Given the description of an element on the screen output the (x, y) to click on. 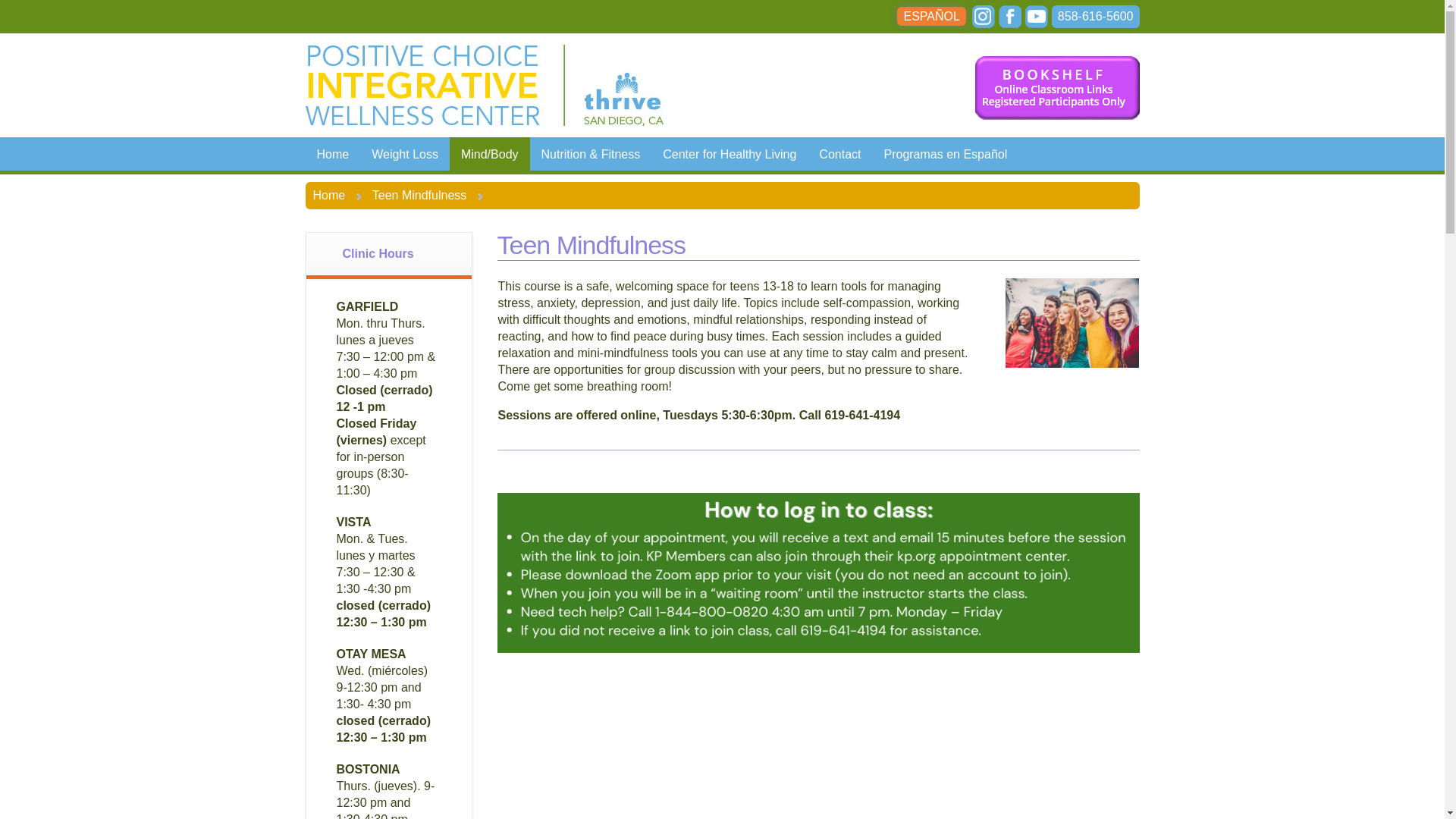
Weight Loss (404, 153)
Home (331, 153)
858-616-5600 (1095, 15)
Multi-ethnic,Group,Of,Teens,Bonding,Outdoors (1073, 322)
Center for Healthy Living (729, 153)
